Given the description of an element on the screen output the (x, y) to click on. 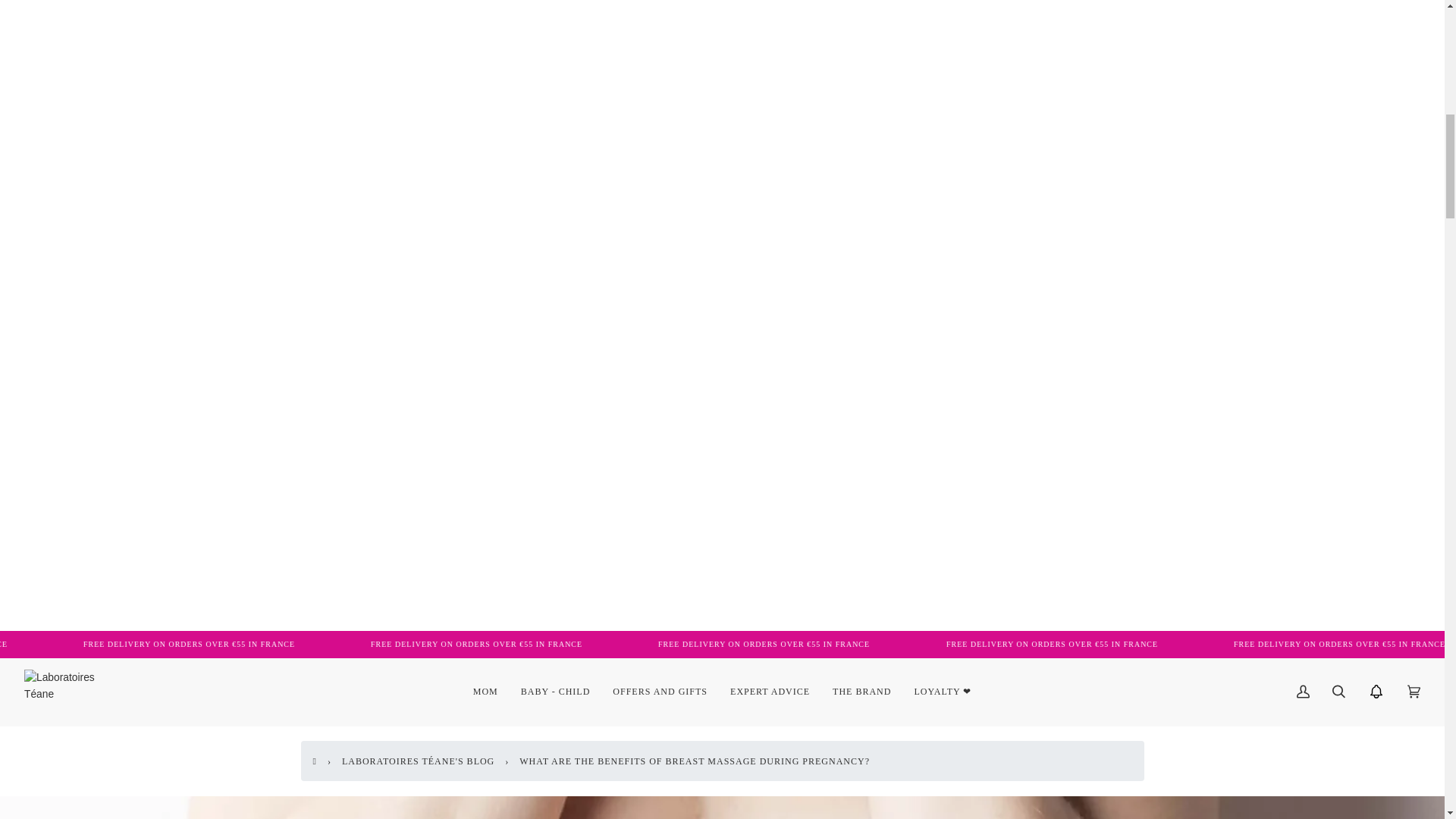
Home (317, 761)
EXPERT ADVICE (770, 691)
BABY - CHILD (555, 691)
OFFERS AND GIFTS (660, 691)
MOM (485, 691)
